Given the description of an element on the screen output the (x, y) to click on. 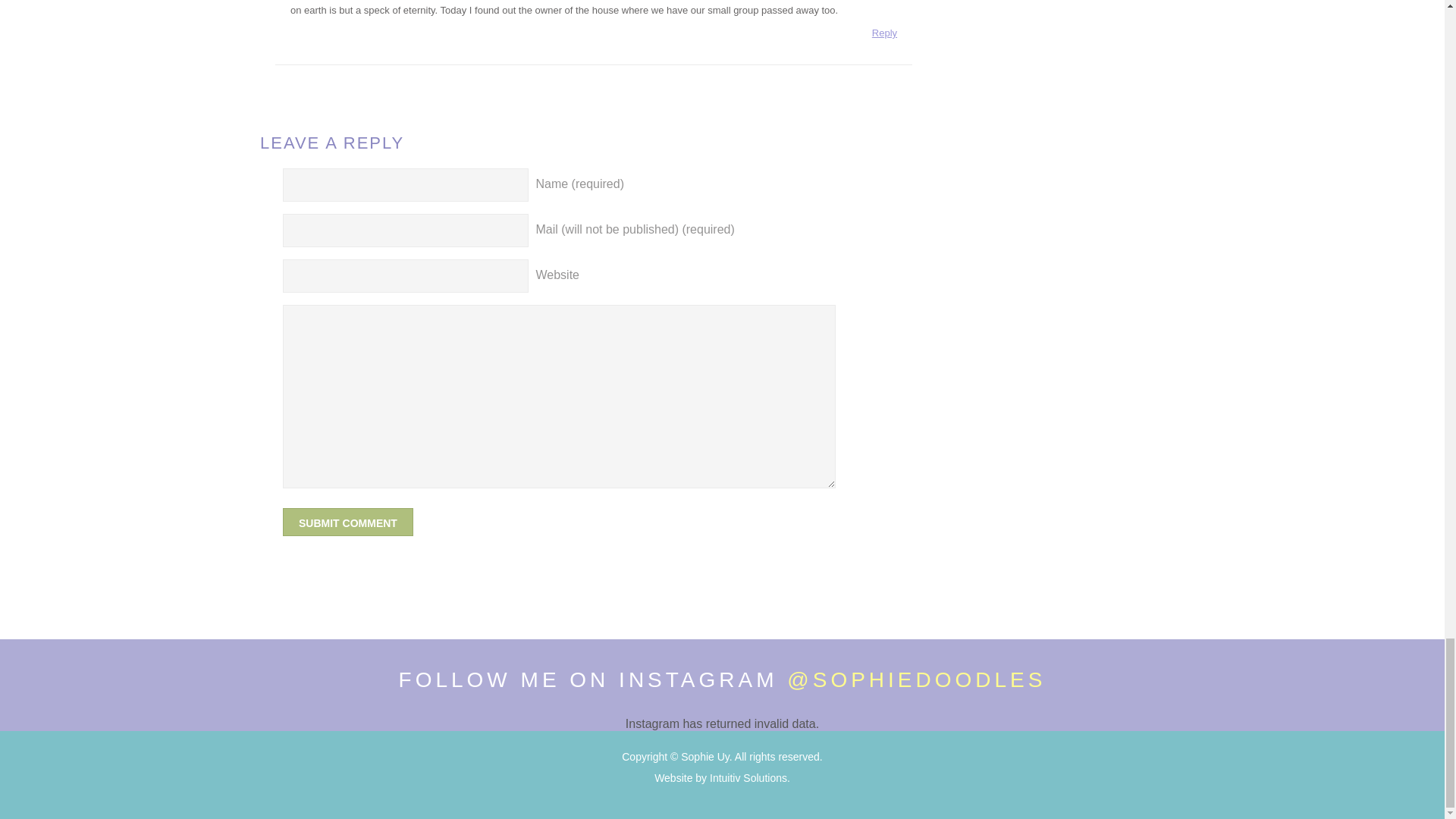
Reply (884, 37)
Submit Comment (347, 521)
Submit Comment (347, 521)
Intuitiv Solutions (748, 777)
